Given the description of an element on the screen output the (x, y) to click on. 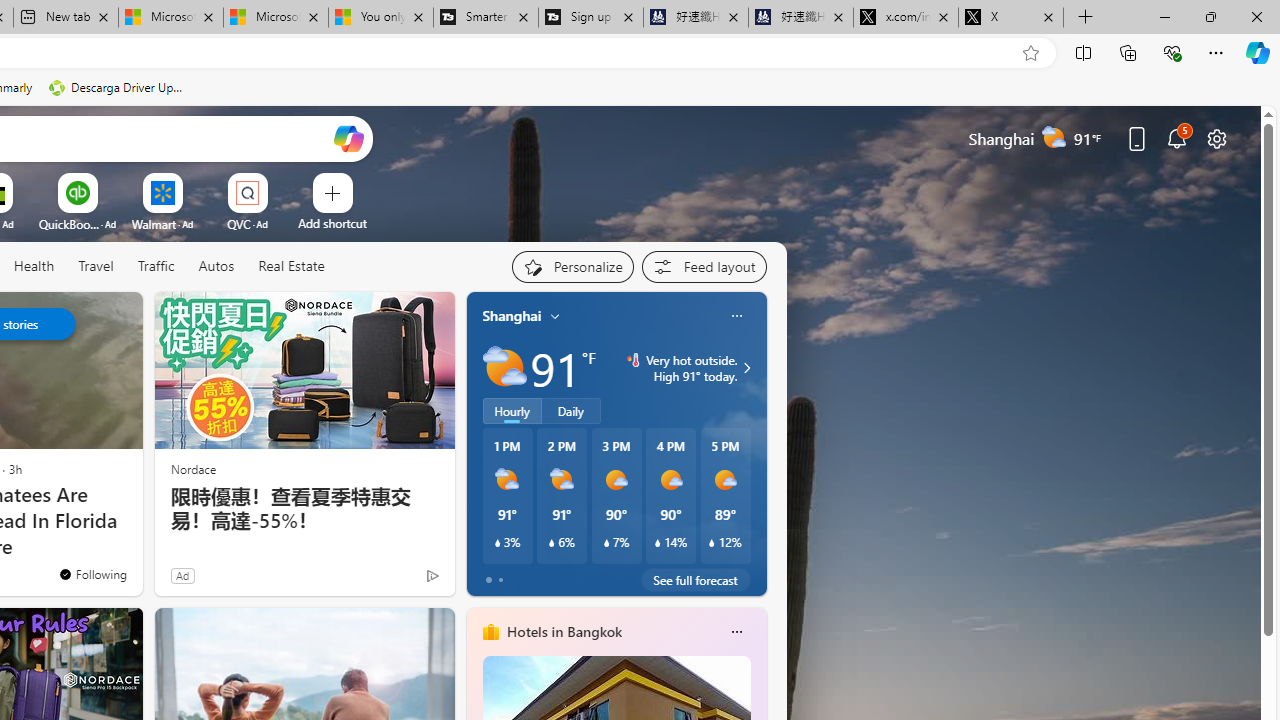
Partly sunny (504, 368)
Class: weather-arrow-glyph (746, 367)
Hide this story (82, 315)
Descarga Driver Updater (118, 88)
Daily (571, 411)
You're following The Weather Channel (92, 573)
